Given the description of an element on the screen output the (x, y) to click on. 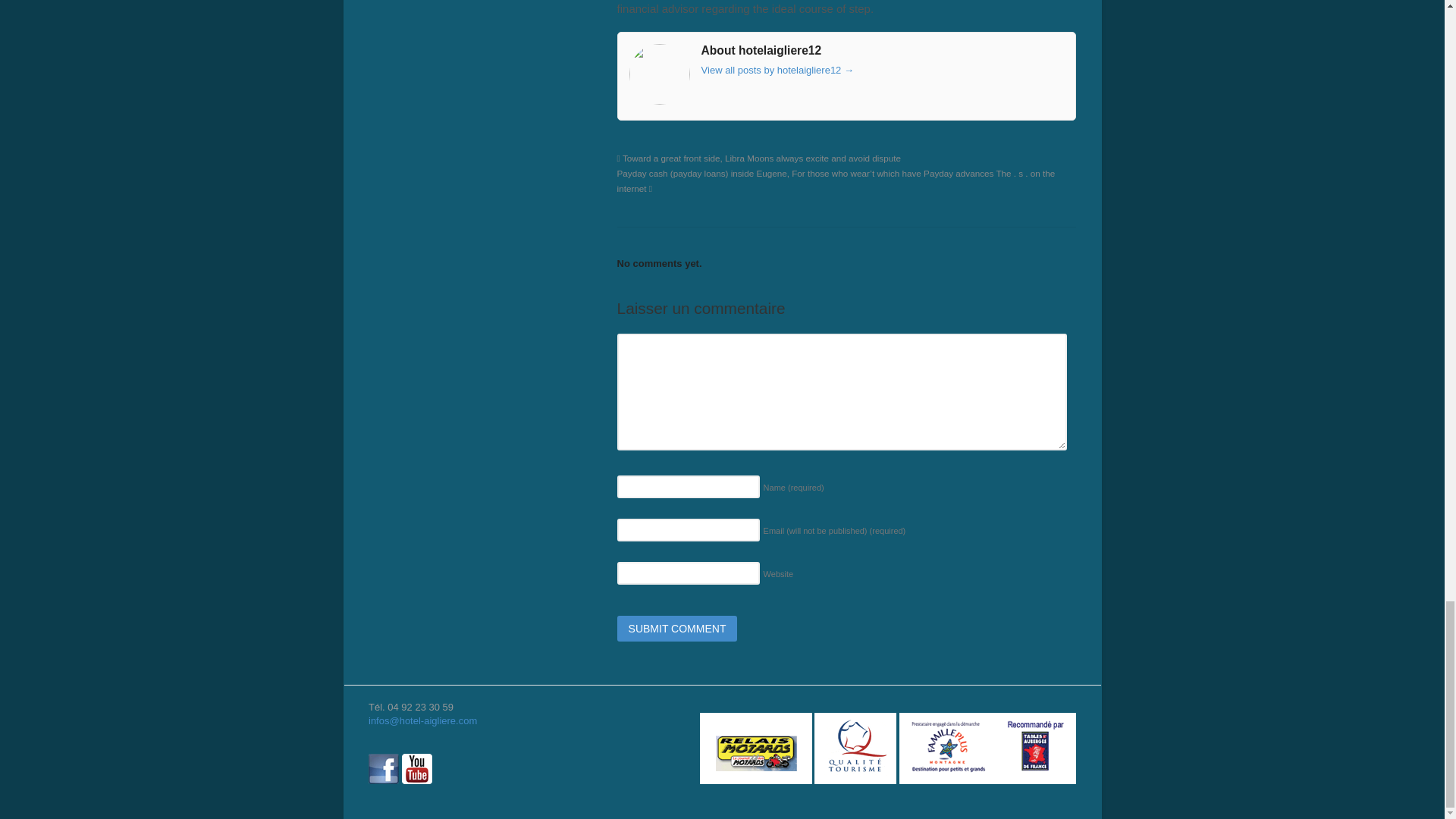
Submit Comment (677, 628)
Submit Comment (677, 628)
